Given the description of an element on the screen output the (x, y) to click on. 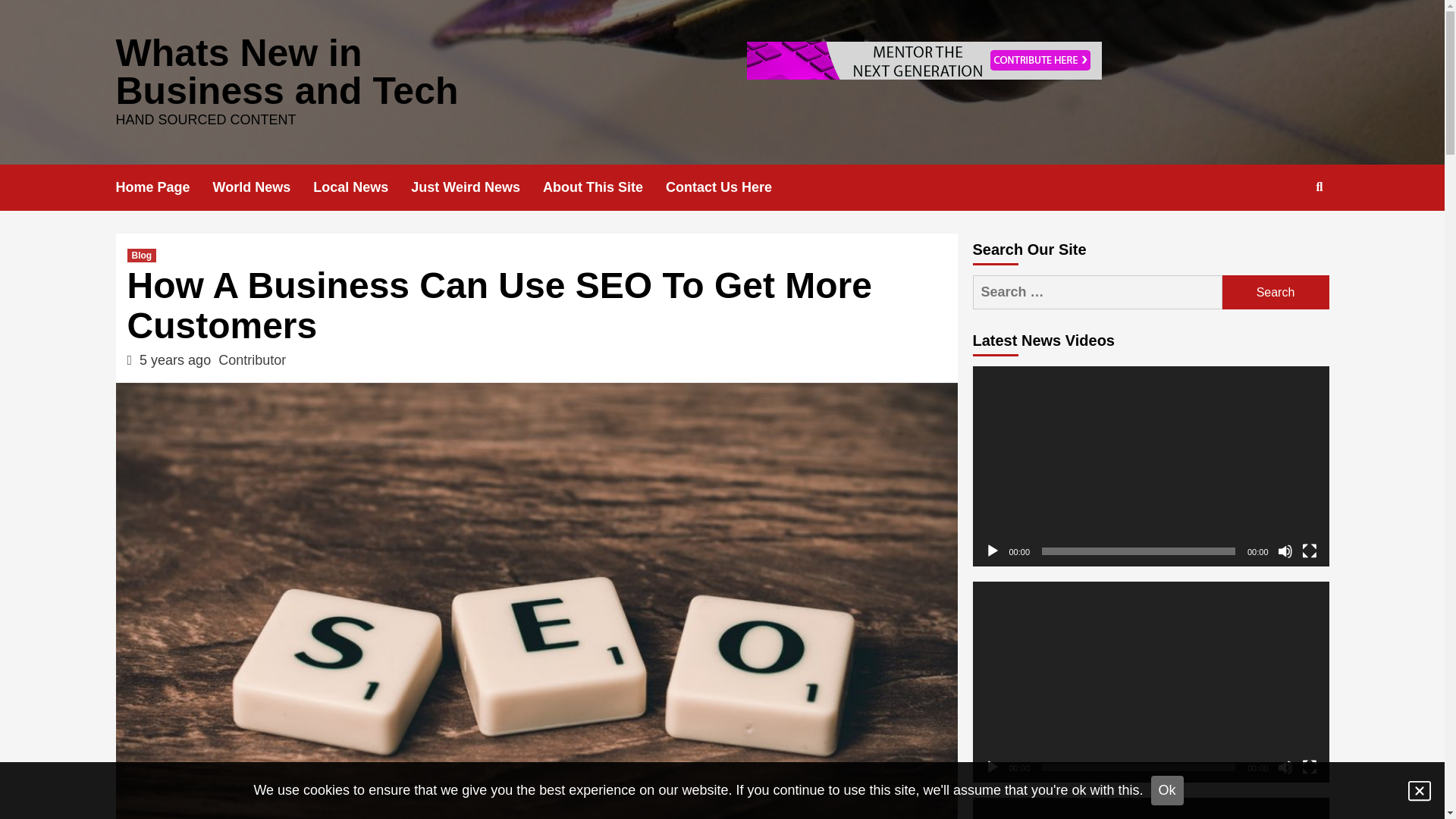
Fullscreen (1308, 767)
Mute (1284, 550)
Contributor (251, 359)
Play (991, 767)
World News (263, 187)
Whats New in Business and Tech (286, 71)
Search (1276, 292)
Blog (142, 255)
Local News (361, 187)
Home Page (163, 187)
Contact Us Here (729, 187)
Play (991, 550)
Just Weird News (476, 187)
Search (1283, 236)
About This Site (604, 187)
